Given the description of an element on the screen output the (x, y) to click on. 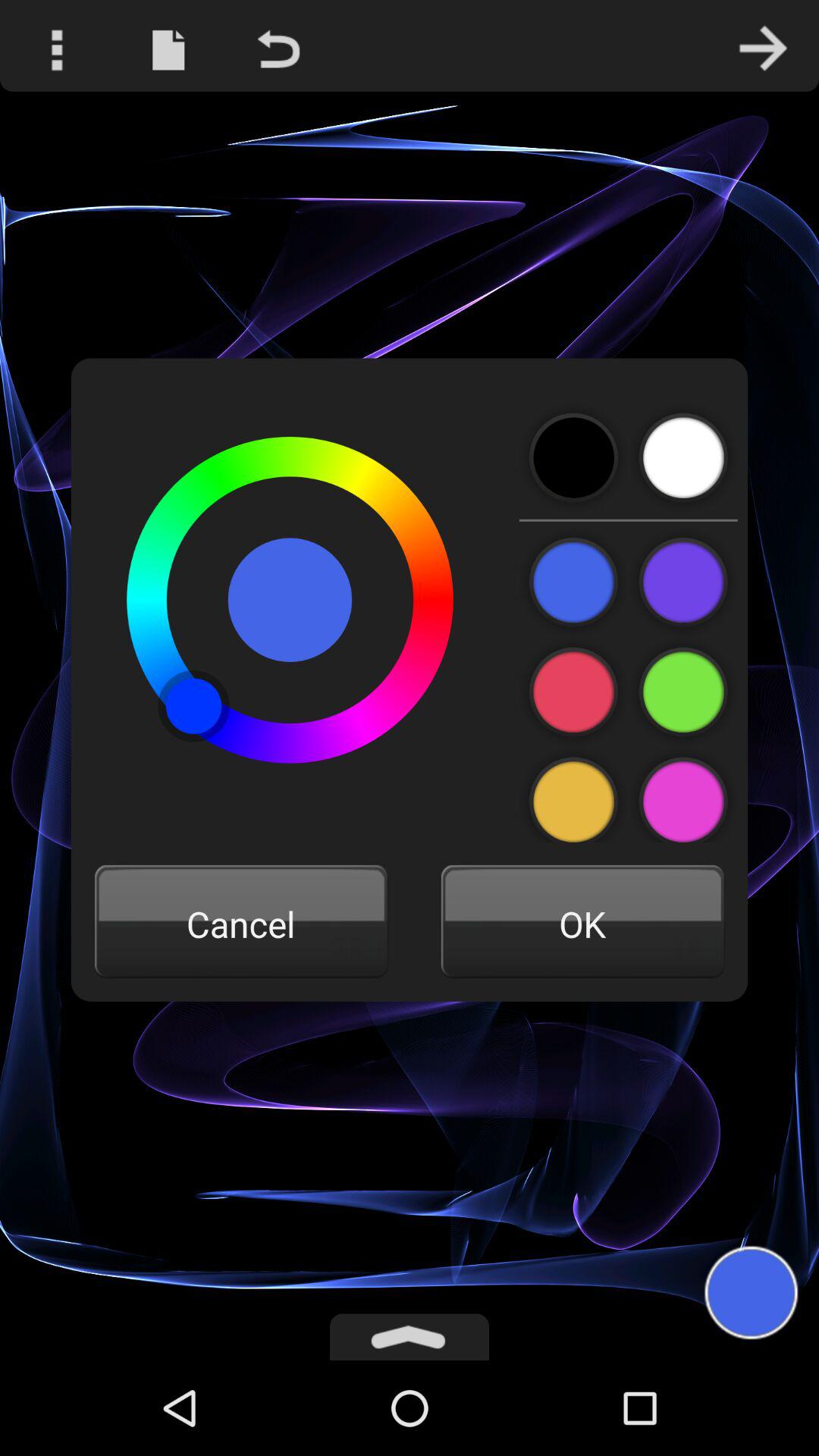
select the color purple (683, 794)
